Given the description of an element on the screen output the (x, y) to click on. 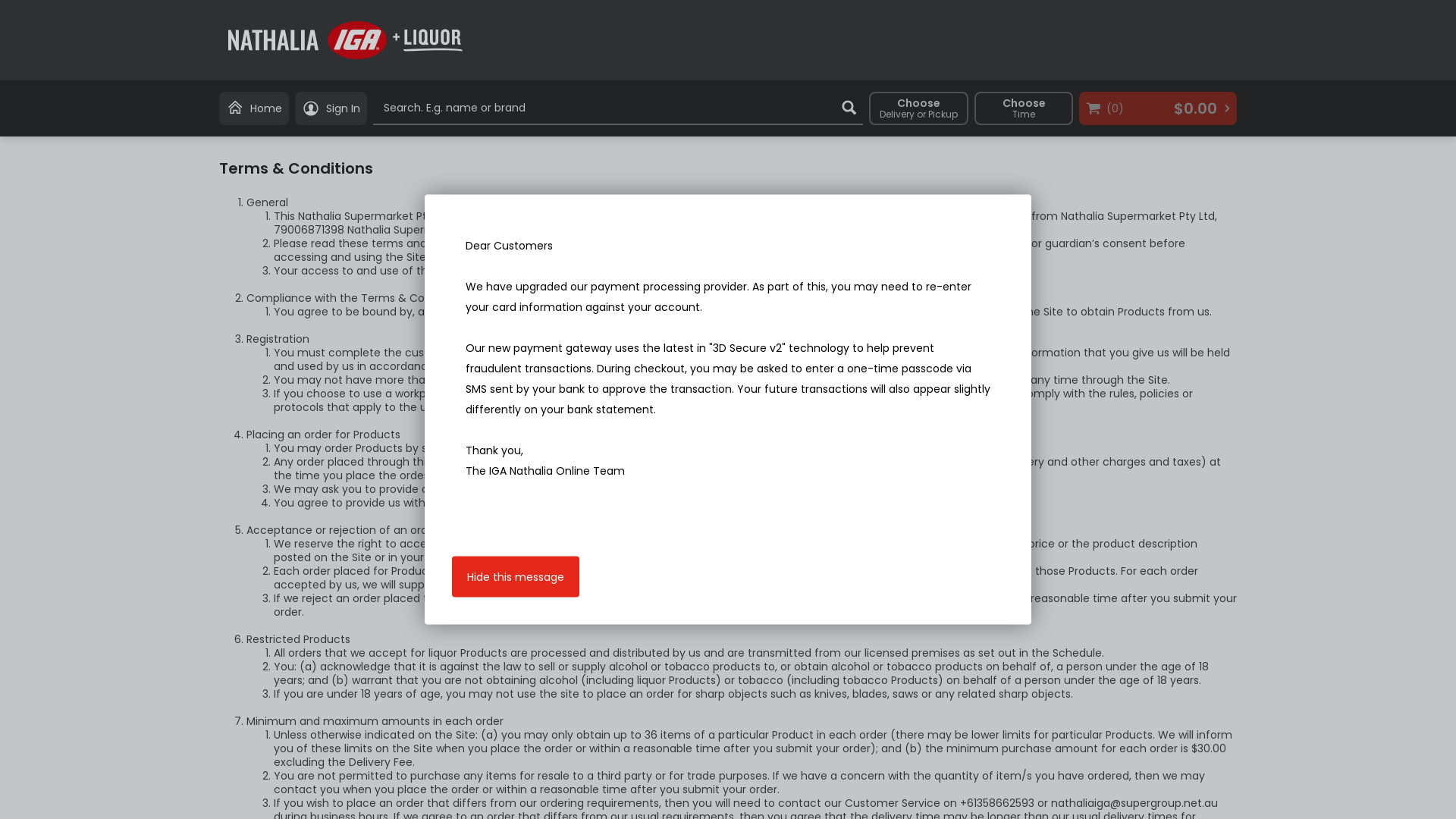
Sign In Element type: text (330, 108)
(0)
$0.00 Element type: text (1157, 108)
Hide this message Element type: text (515, 576)
Choose
Time Element type: text (1023, 108)
Choose
Delivery or Pickup Element type: text (918, 108)
Search Element type: hover (848, 107)
Home Element type: text (253, 108)
